Given the description of an element on the screen output the (x, y) to click on. 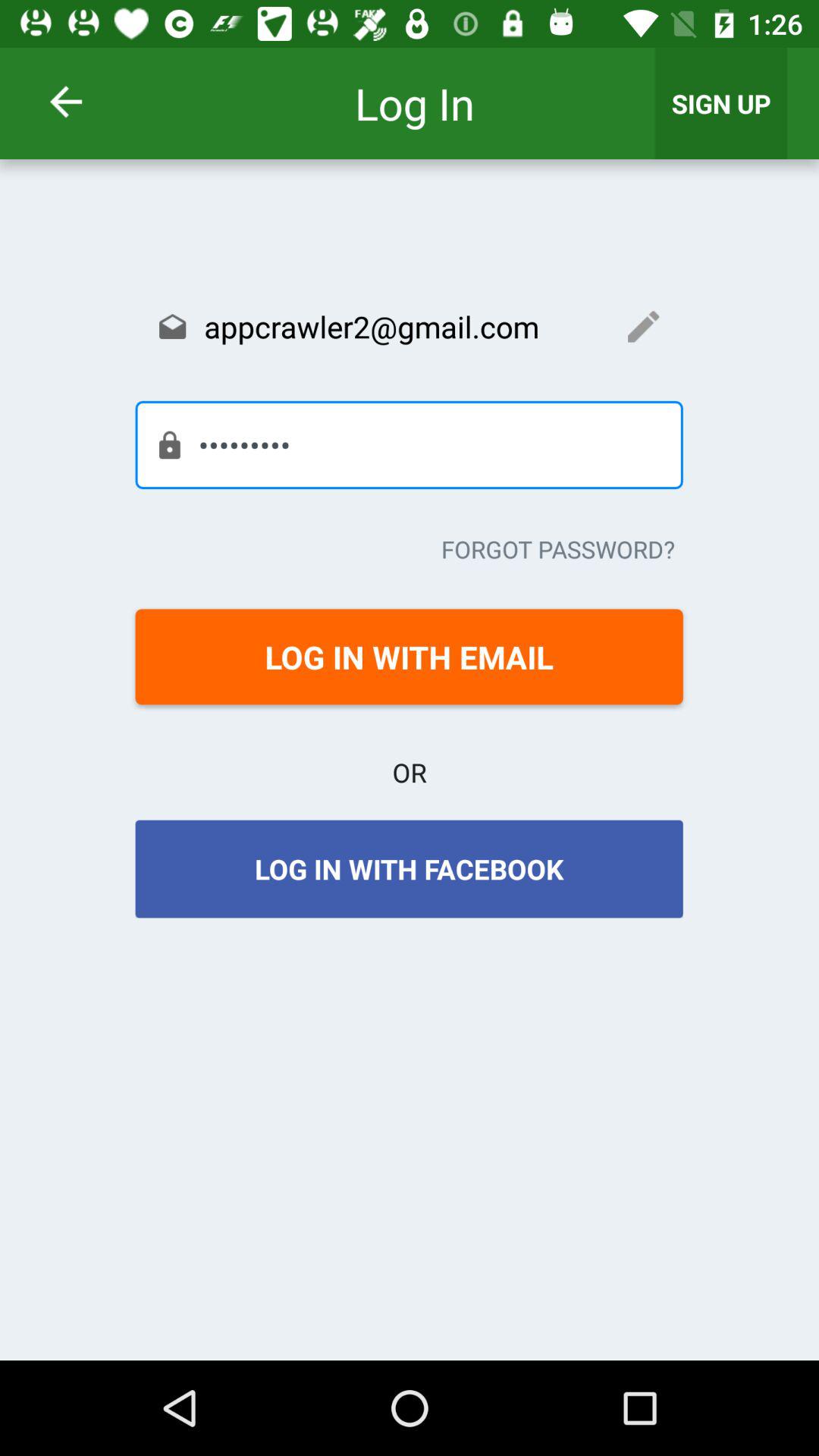
click the appcrawler2@gmail.com item (409, 326)
